Given the description of an element on the screen output the (x, y) to click on. 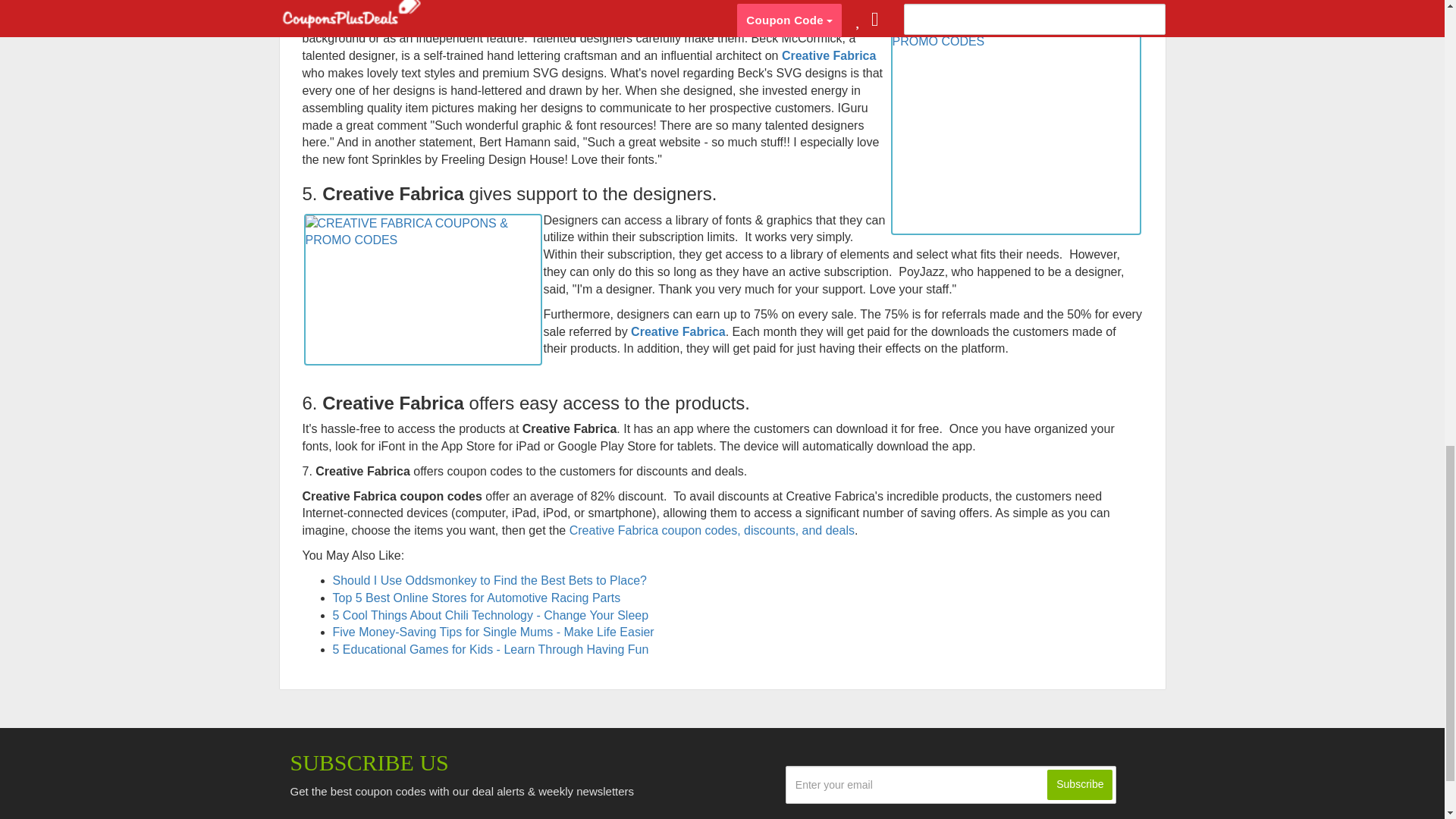
Creative Fabrica coupon codes, discounts, and deals (711, 530)
Top 5 Best Online Stores for Automotive Racing Parts (475, 597)
Should I Use Oddsmonkey to Find the Best Bets to Place?  (490, 580)
5 Educational Games for Kids - Learn Through Having Fun (489, 649)
Subscribe (1079, 784)
Five Money-Saving Tips for Single Mums - Make Life Easier (492, 631)
Creative Fabrica (677, 331)
5 Cool Things About Chili Technology - Change Your Sleep (489, 615)
Creative Fabrica (828, 55)
